Given the description of an element on the screen output the (x, y) to click on. 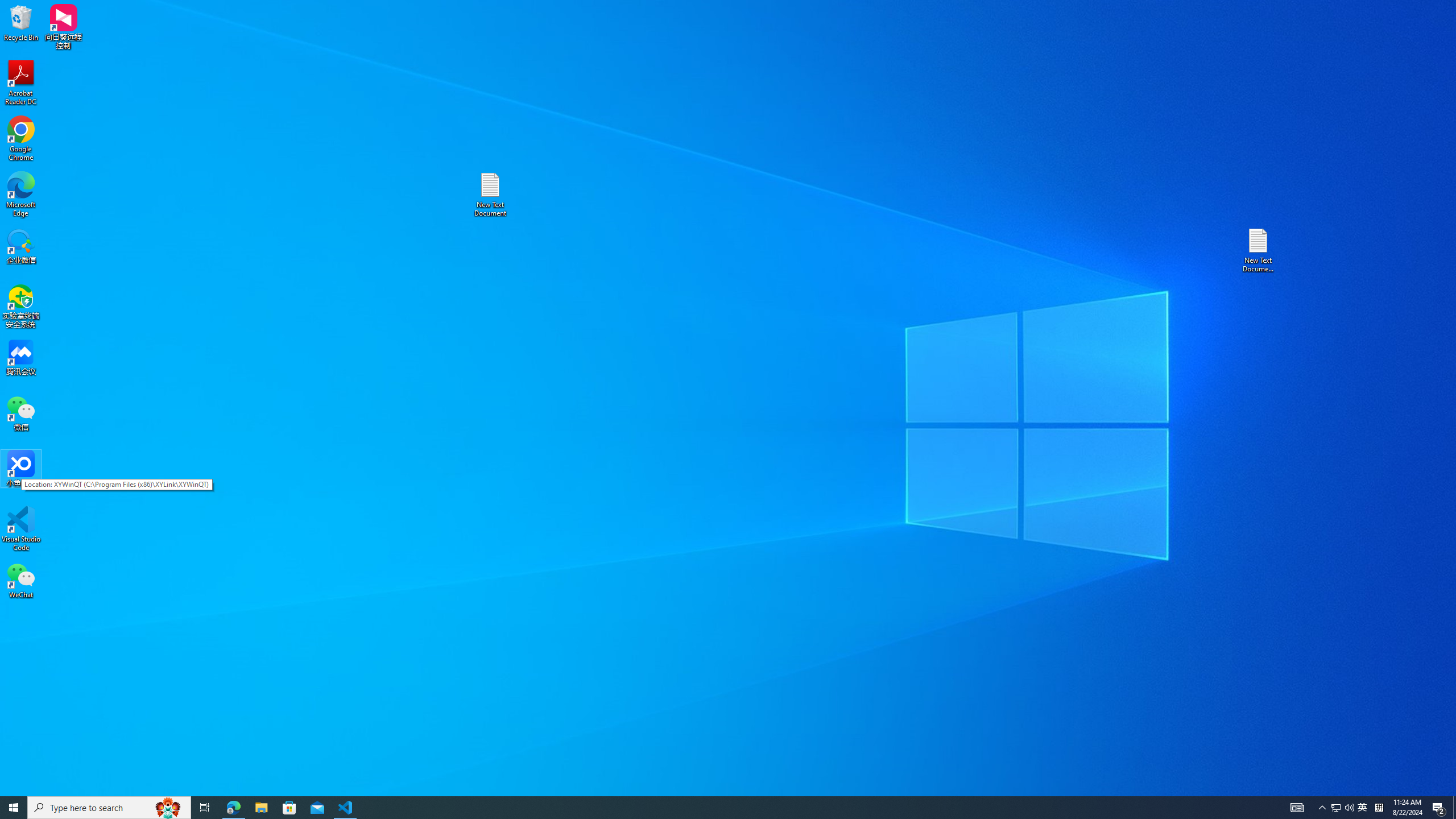
Visual Studio Code (21, 528)
Type here to search (108, 807)
Recycle Bin (21, 22)
User Promoted Notification Area (1342, 807)
